Given the description of an element on the screen output the (x, y) to click on. 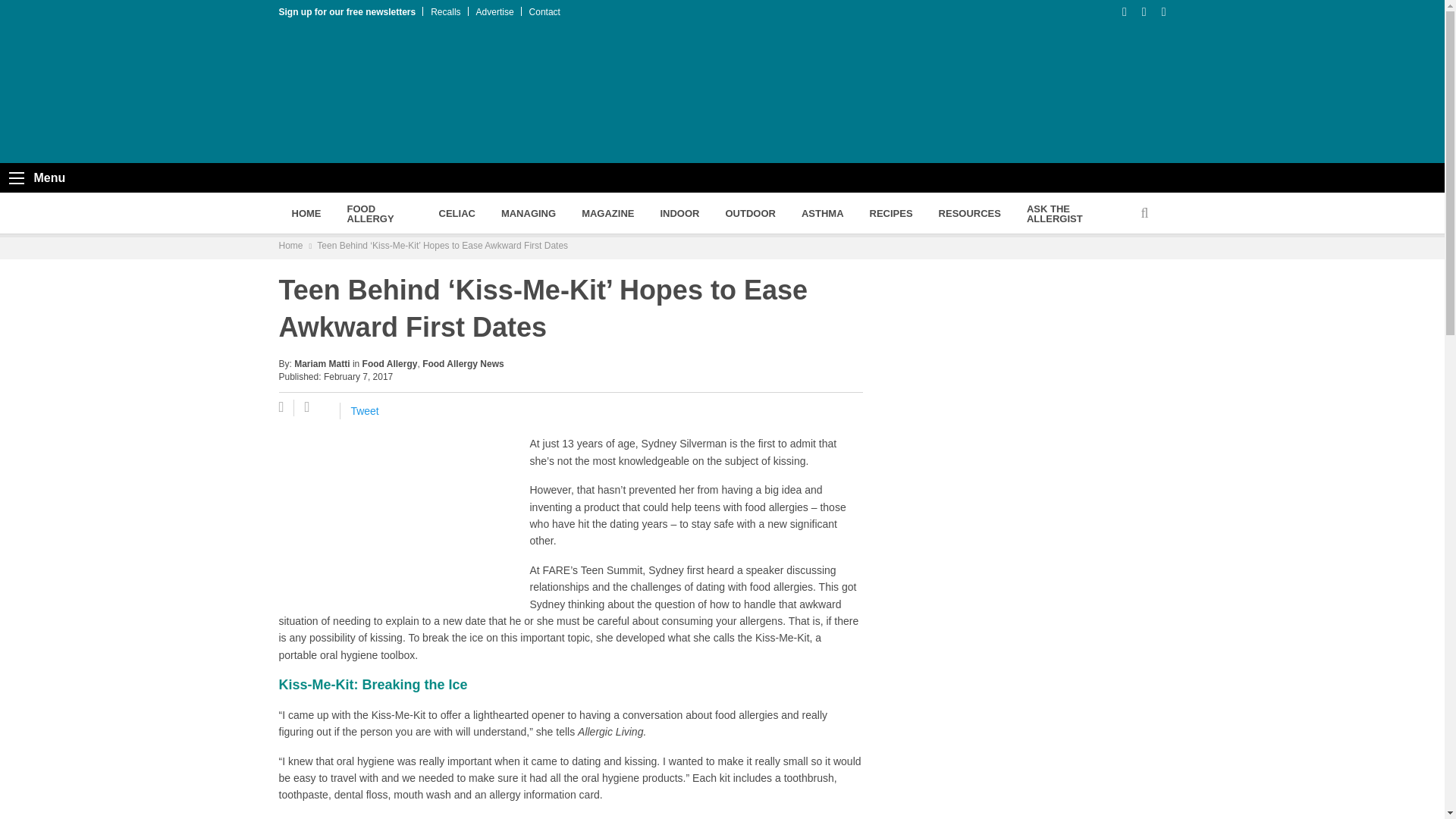
Sign up for our free newsletters (346, 11)
Food Allergy (379, 212)
FOOD ALLERGY (379, 212)
Allergic Living (418, 93)
Posts by Mariam Matti (321, 363)
MANAGING (528, 212)
Recalls (445, 11)
Contact (544, 11)
Advertise (494, 11)
CELIAC (456, 212)
HOME (306, 212)
